Given the description of an element on the screen output the (x, y) to click on. 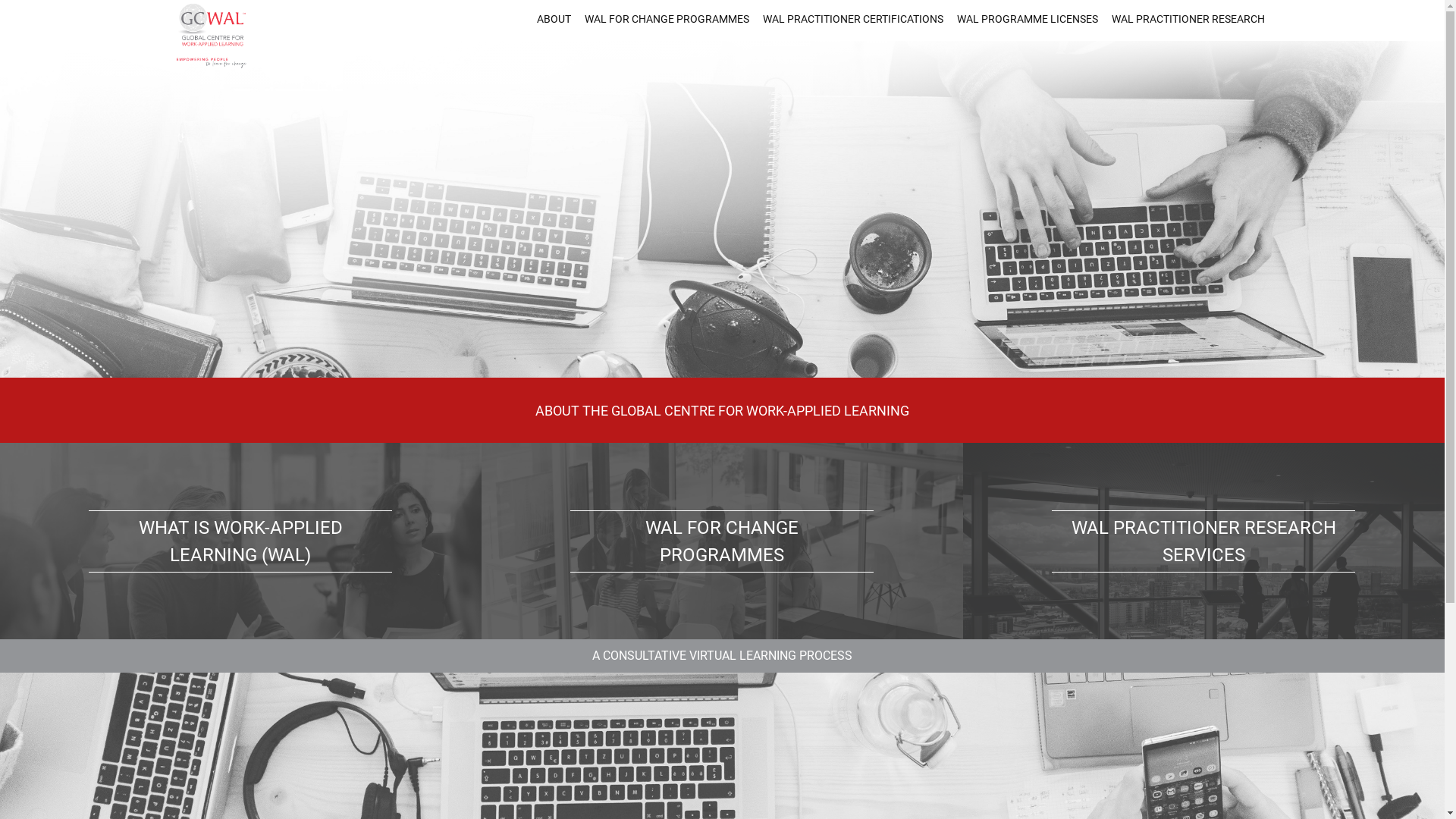
WAL PRACTITIONER CERTIFICATIONS Element type: text (852, 18)
WHAT IS WORK-APPLIED LEARNING (WAL) Element type: text (240, 540)
WAL PRACTITIONER RESEARCH SERVICES Element type: text (1203, 540)
ABOUT Element type: text (553, 18)
WAL FOR CHANGE PROGRAMMES Element type: text (666, 18)
WAL FOR CHANGE PROGRAMMES Element type: text (722, 540)
WAL PROGRAMME LICENSES Element type: text (1027, 18)
ABOUT THE GLOBAL CENTRE FOR WORK-APPLIED LEARNING Element type: text (722, 409)
WAL PRACTITIONER RESEARCH Element type: text (1187, 18)
